Given the description of an element on the screen output the (x, y) to click on. 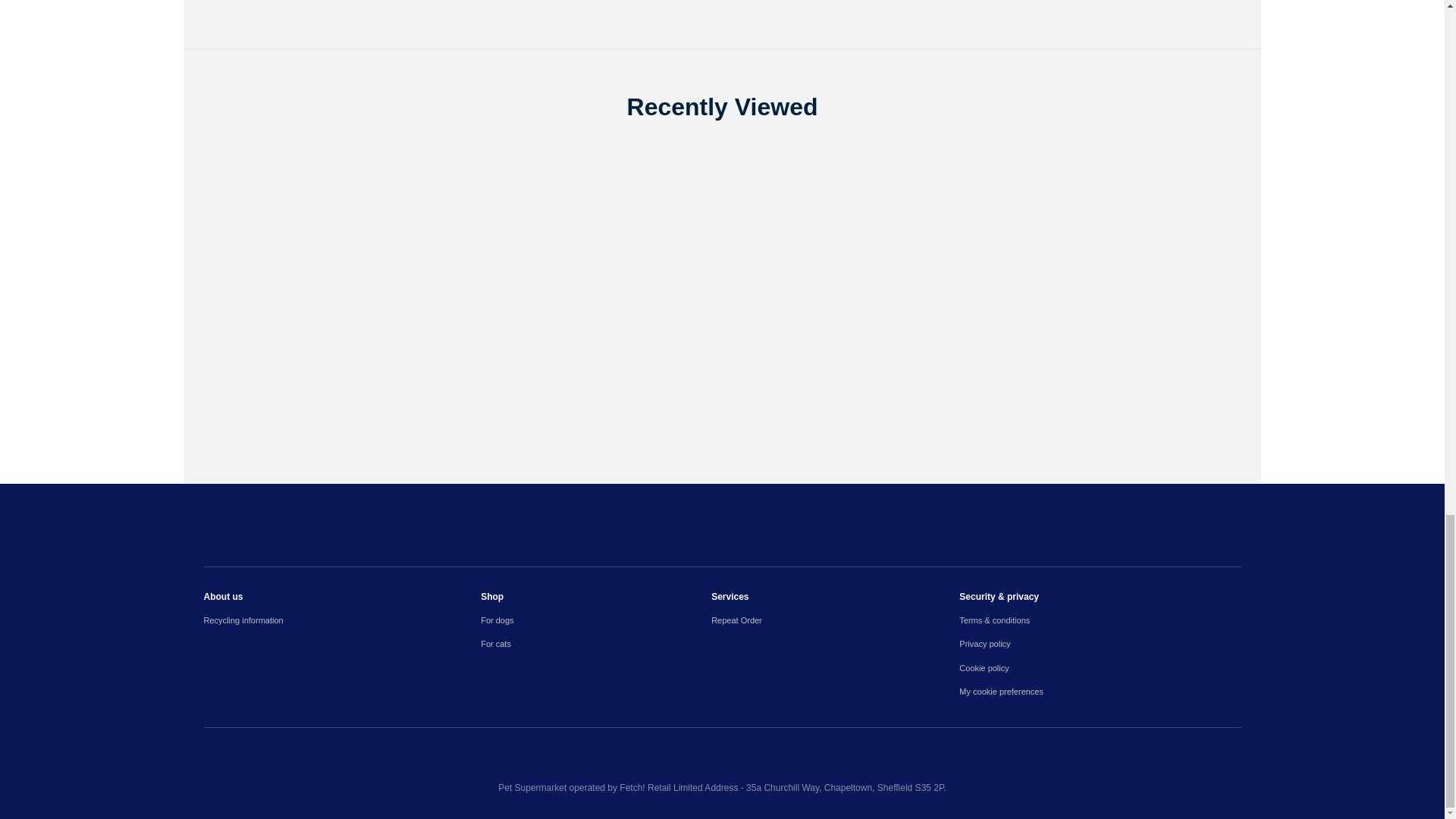
Repeat Order (835, 620)
Cookie policy (1099, 667)
My cookie preferences (1099, 691)
For dogs (595, 620)
For cats (595, 644)
Privacy policy (1099, 644)
Recycling information (341, 620)
